Given the description of an element on the screen output the (x, y) to click on. 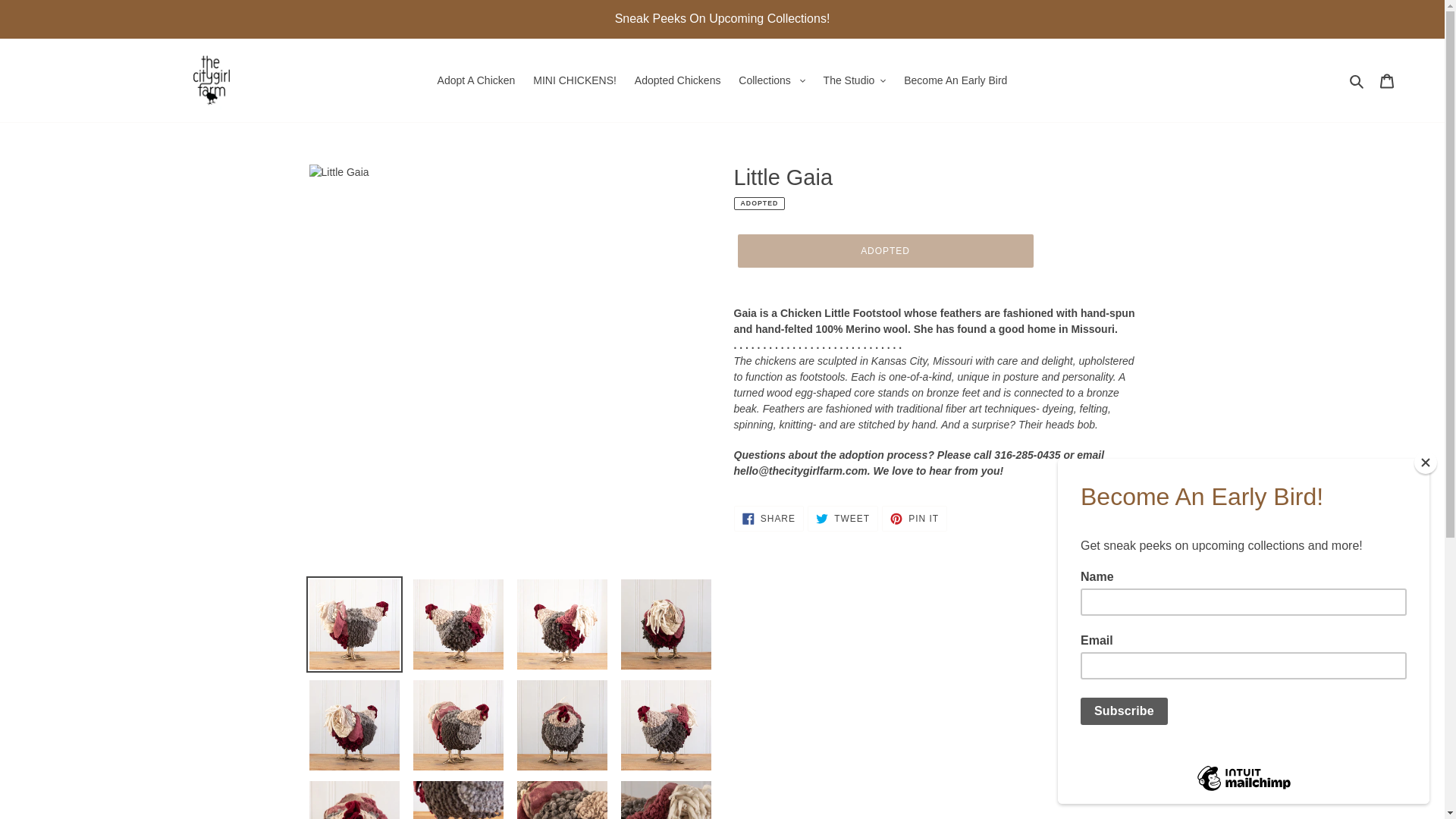
Collections (771, 79)
Adopt A Chicken (475, 79)
Sneak Peeks On Upcoming Collections! (721, 18)
MINI CHICKENS! (574, 79)
Adopted Chickens (678, 79)
